Given the description of an element on the screen output the (x, y) to click on. 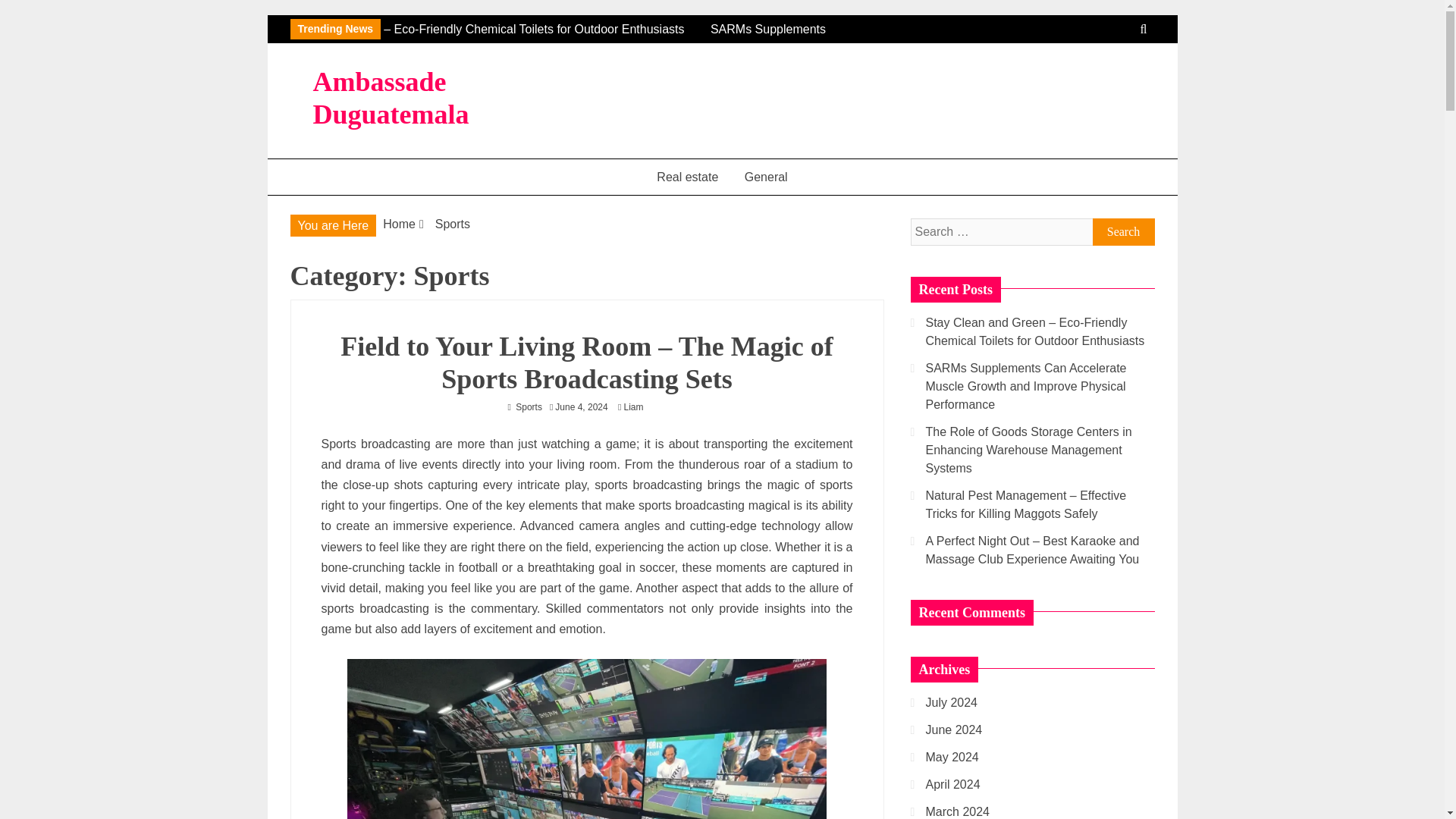
Ambassade Duguatemala (390, 97)
Sports (452, 223)
Search (1123, 231)
Liam (636, 407)
June 4, 2024 (580, 407)
Home (398, 223)
General (766, 176)
Sports (528, 407)
Real estate (687, 176)
Search (1123, 231)
